Given the description of an element on the screen output the (x, y) to click on. 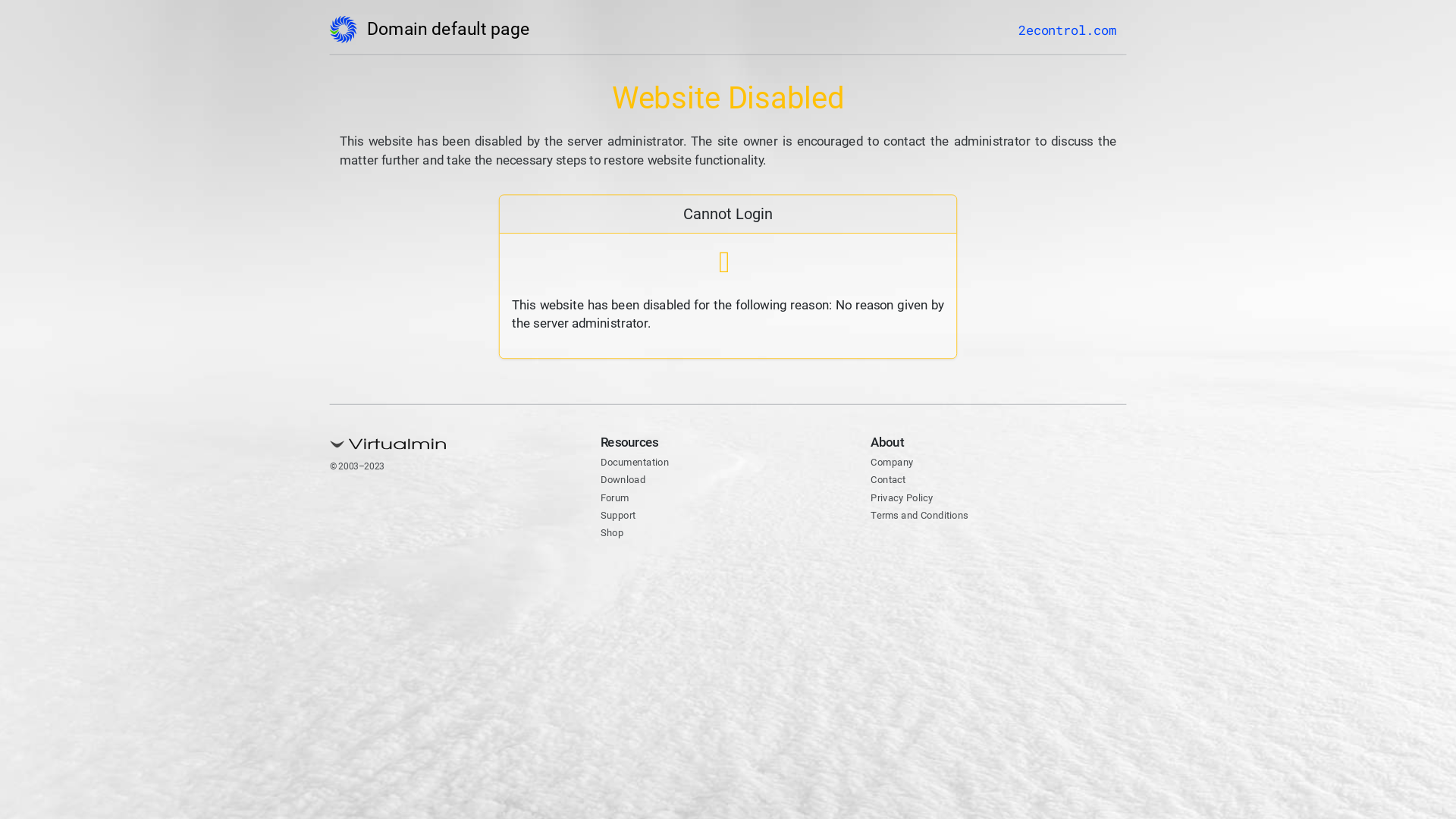
Support Element type: text (621, 515)
Company Element type: text (896, 463)
Documentation Element type: text (641, 463)
Download Element type: text (627, 480)
Terms and Conditions Element type: text (929, 515)
Domain default page Element type: text (450, 32)
Privacy Policy Element type: text (907, 498)
Shop Element type: text (614, 534)
Contact Element type: text (891, 480)
Forum Element type: text (617, 498)
